Given the description of an element on the screen output the (x, y) to click on. 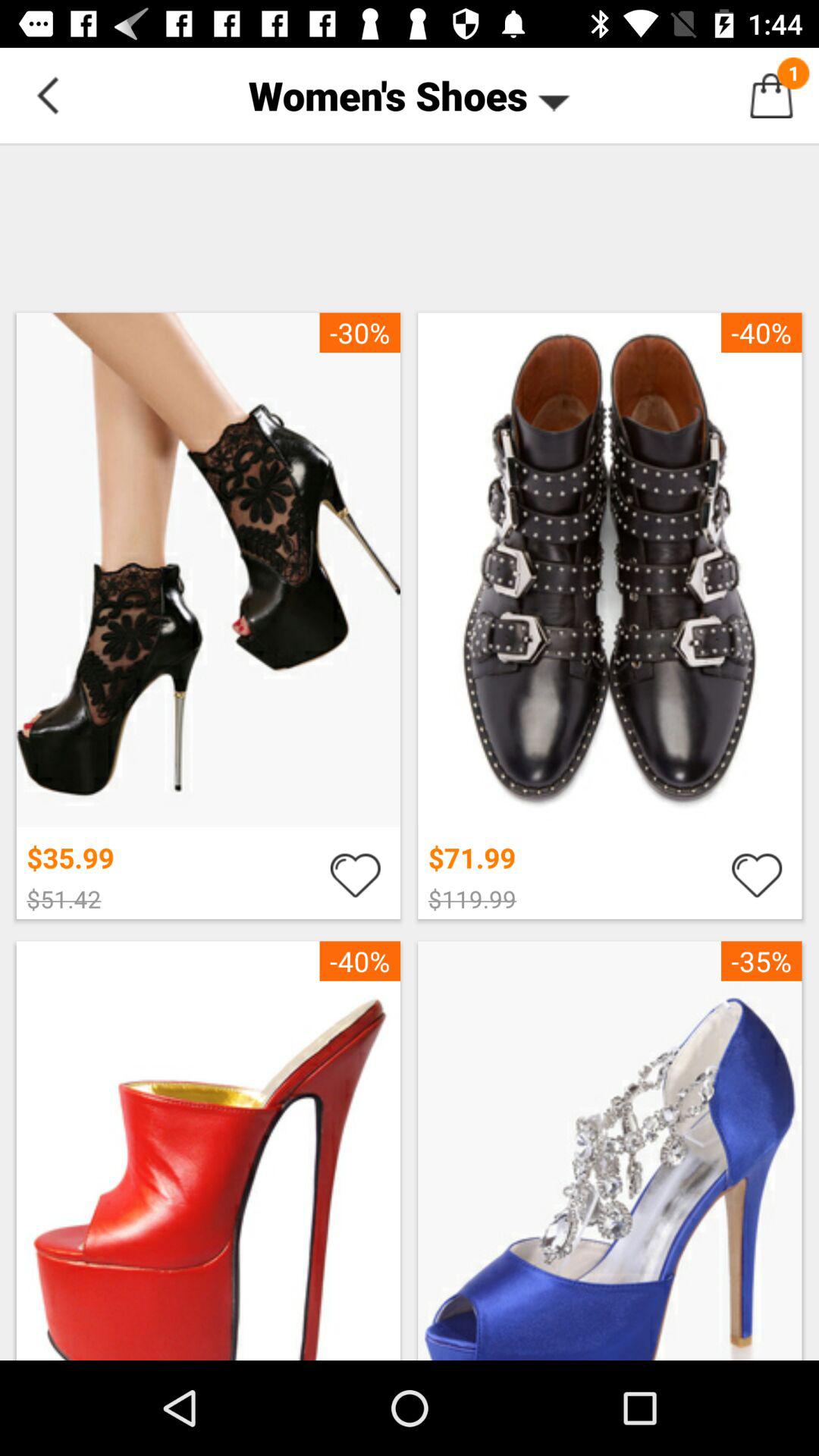
heart shoe (355, 874)
